Given the description of an element on the screen output the (x, y) to click on. 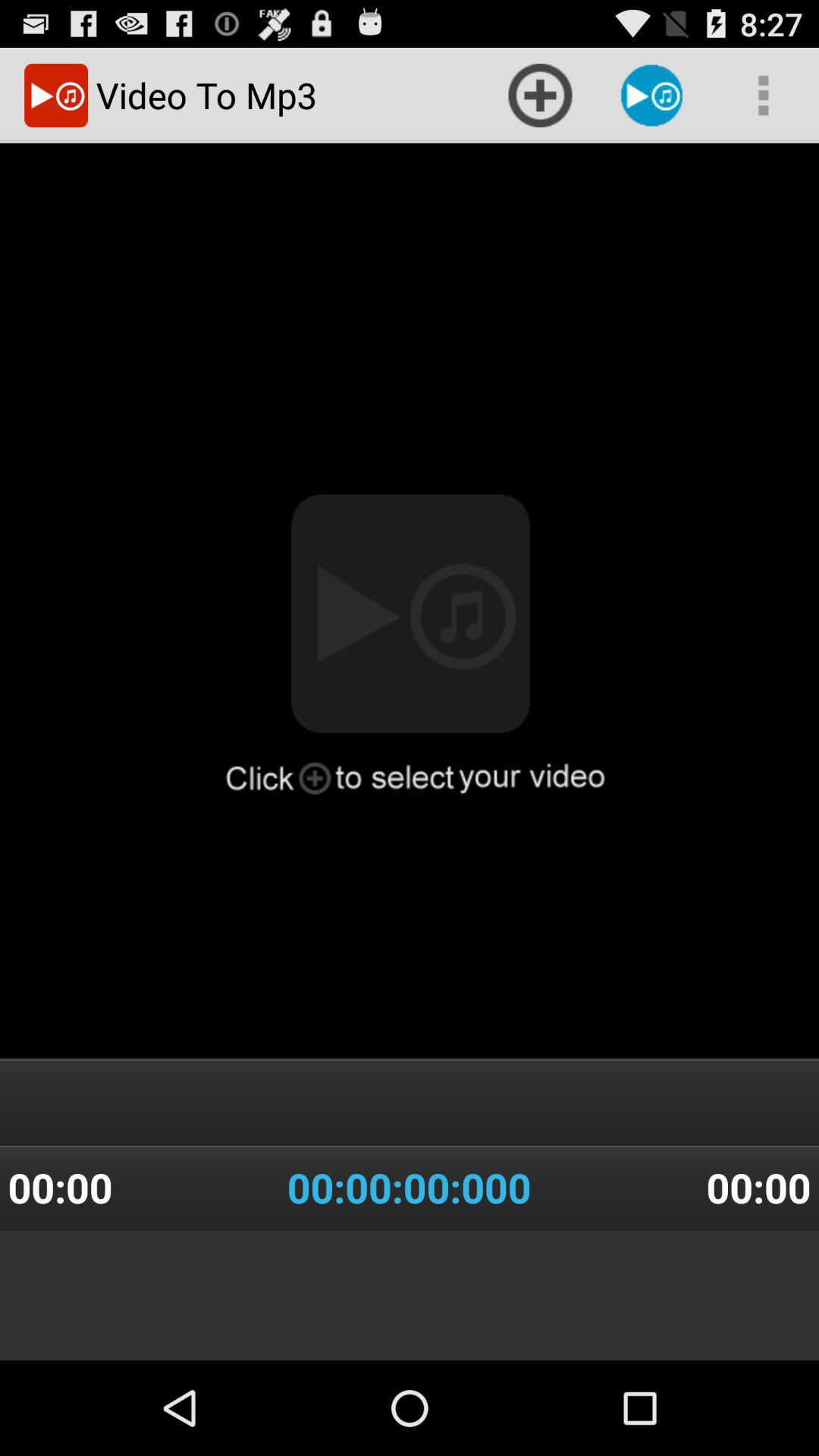
click the item to the right of the video to mp3 item (540, 95)
